Given the description of an element on the screen output the (x, y) to click on. 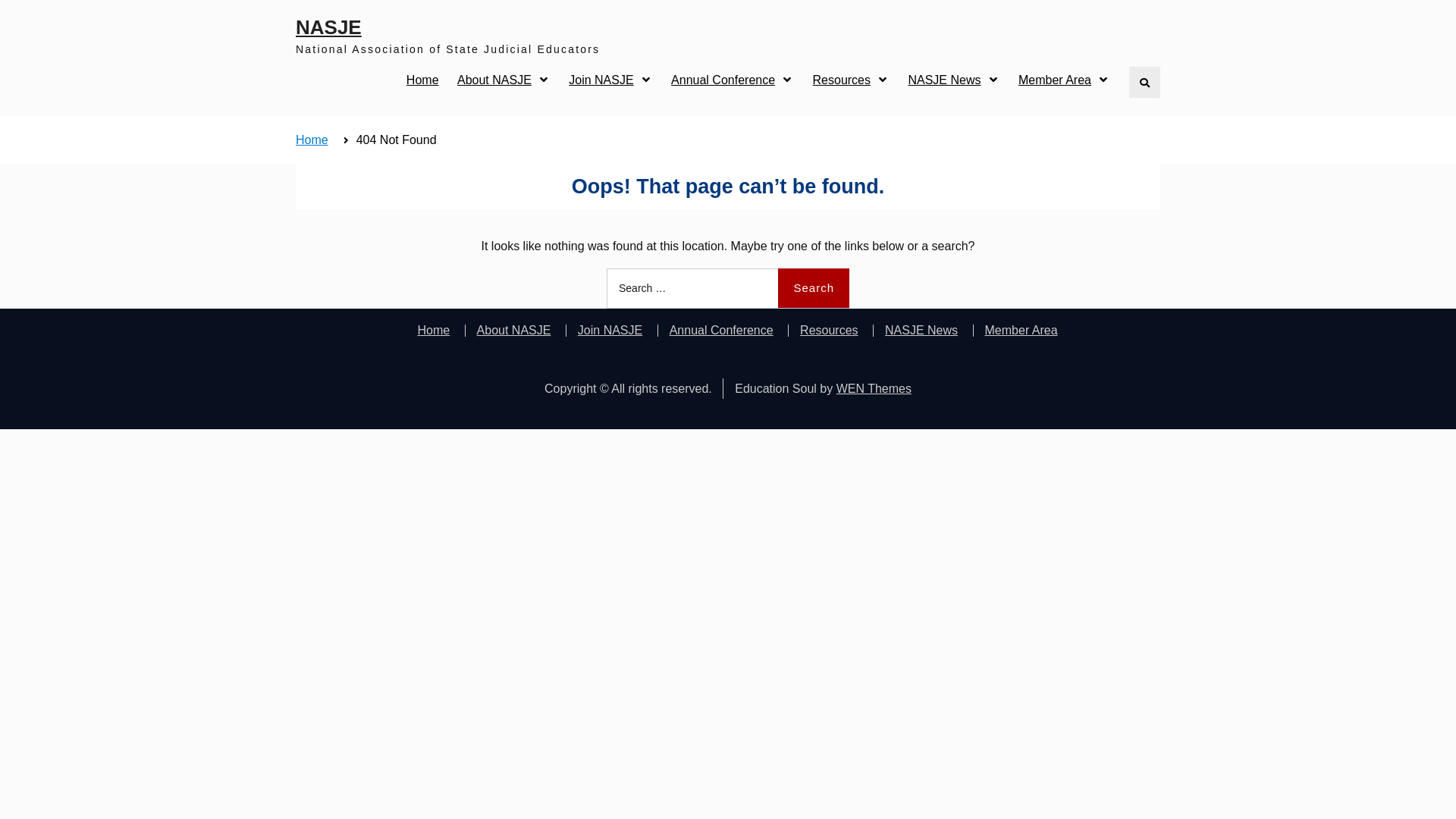
NASJE Element type: text (328, 26)
Home Element type: text (439, 330)
Resources Element type: text (851, 79)
Member Area Element type: text (1063, 79)
Resources Element type: text (828, 330)
NASJE News Element type: text (953, 79)
Member Area Element type: text (1020, 330)
Annual Conference Element type: text (732, 79)
About NASJE Element type: text (503, 79)
NASJE News Element type: text (920, 330)
Join NASJE Element type: text (610, 79)
About NASJE Element type: text (513, 330)
Search Element type: text (1144, 81)
Annual Conference Element type: text (720, 330)
Home Element type: text (422, 79)
Join NASJE Element type: text (609, 330)
Search Element type: text (813, 288)
WEN Themes Element type: text (873, 388)
Home Element type: text (311, 139)
